Given the description of an element on the screen output the (x, y) to click on. 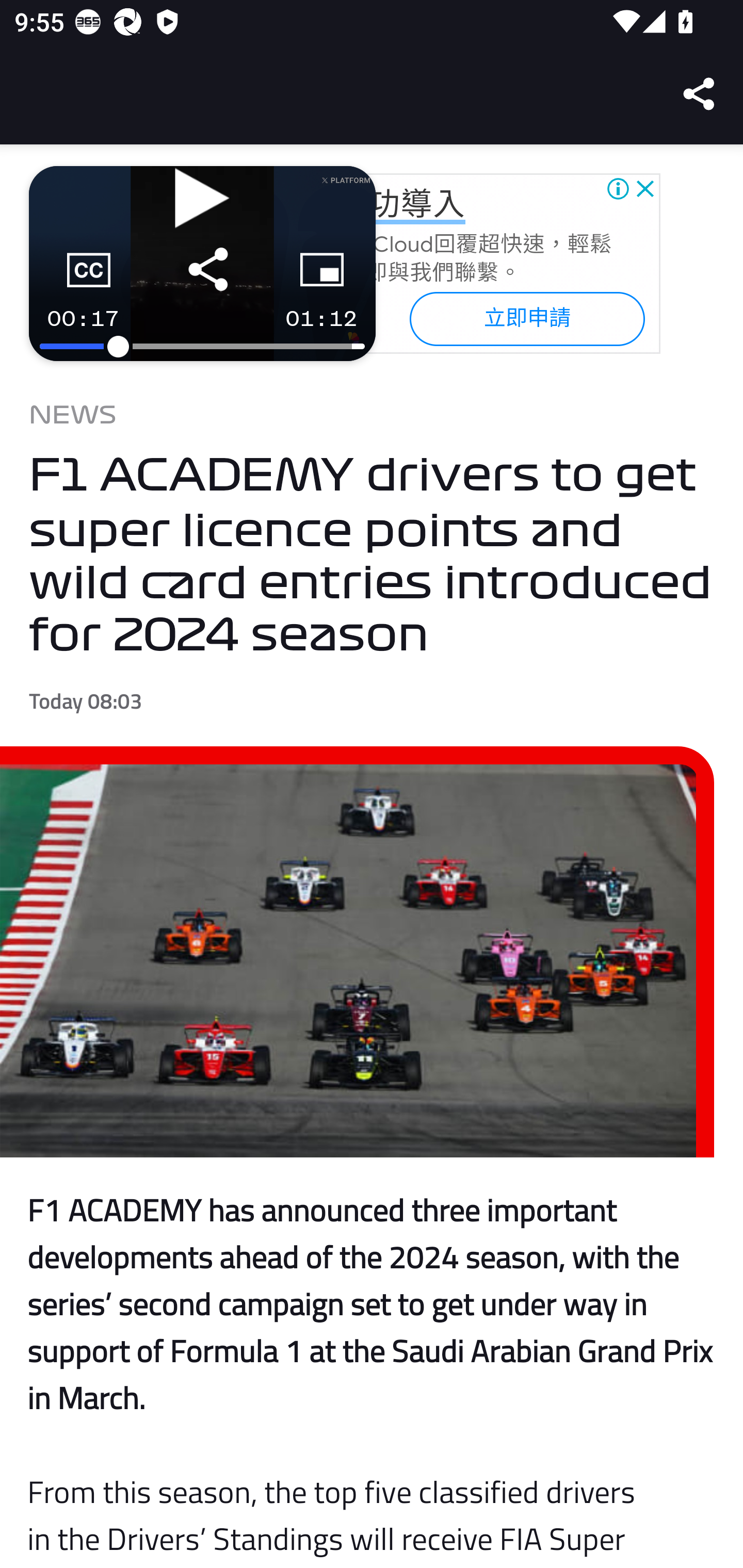
Share (699, 93)
立即申請 (526, 318)
